Given the description of an element on the screen output the (x, y) to click on. 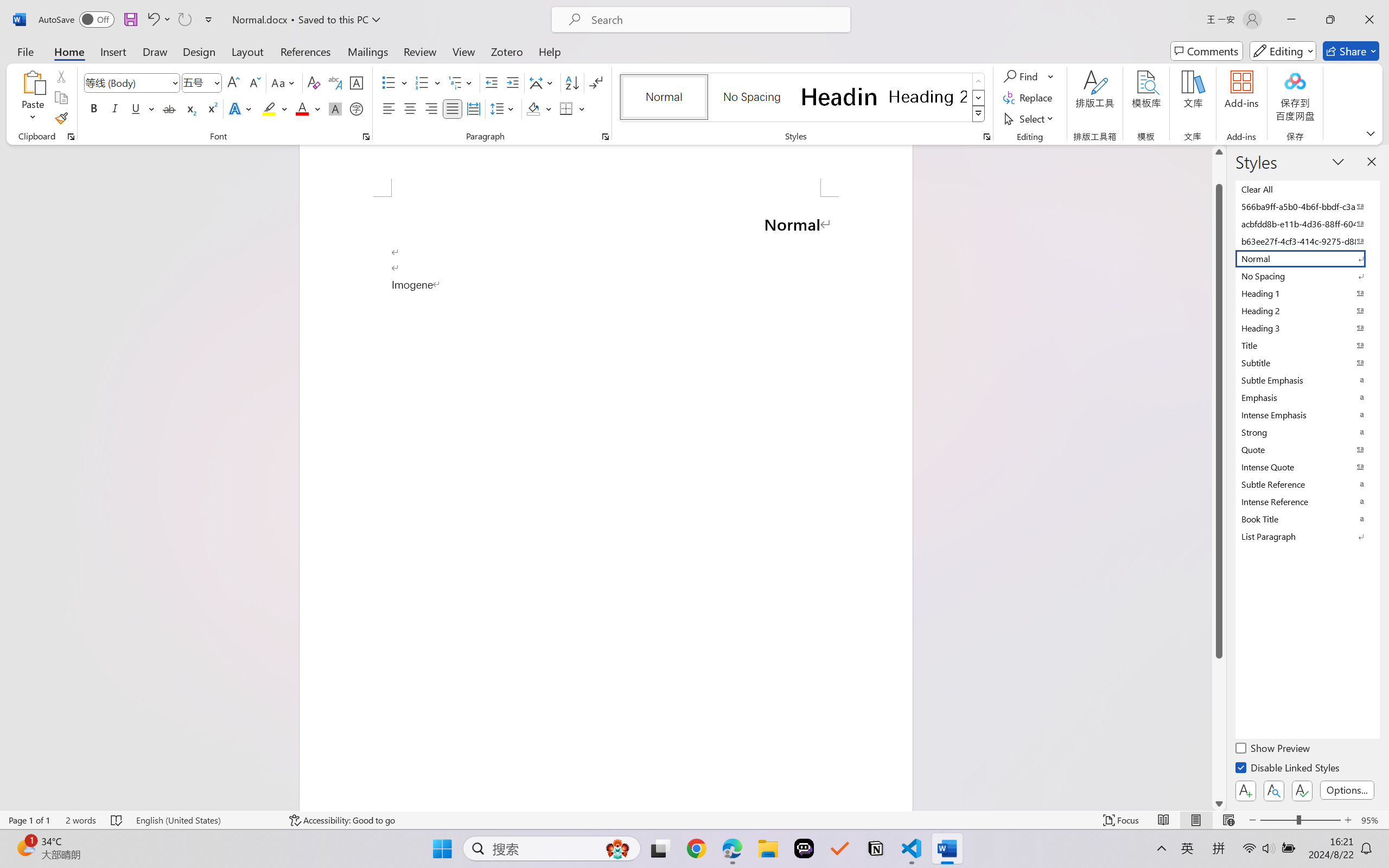
Strong (1306, 431)
Page up (1219, 171)
Class: NetUIScrollBar (1219, 477)
Show/Hide Editing Marks (595, 82)
Line down (1219, 803)
Decrease Indent (491, 82)
Font... (365, 136)
